Given the description of an element on the screen output the (x, y) to click on. 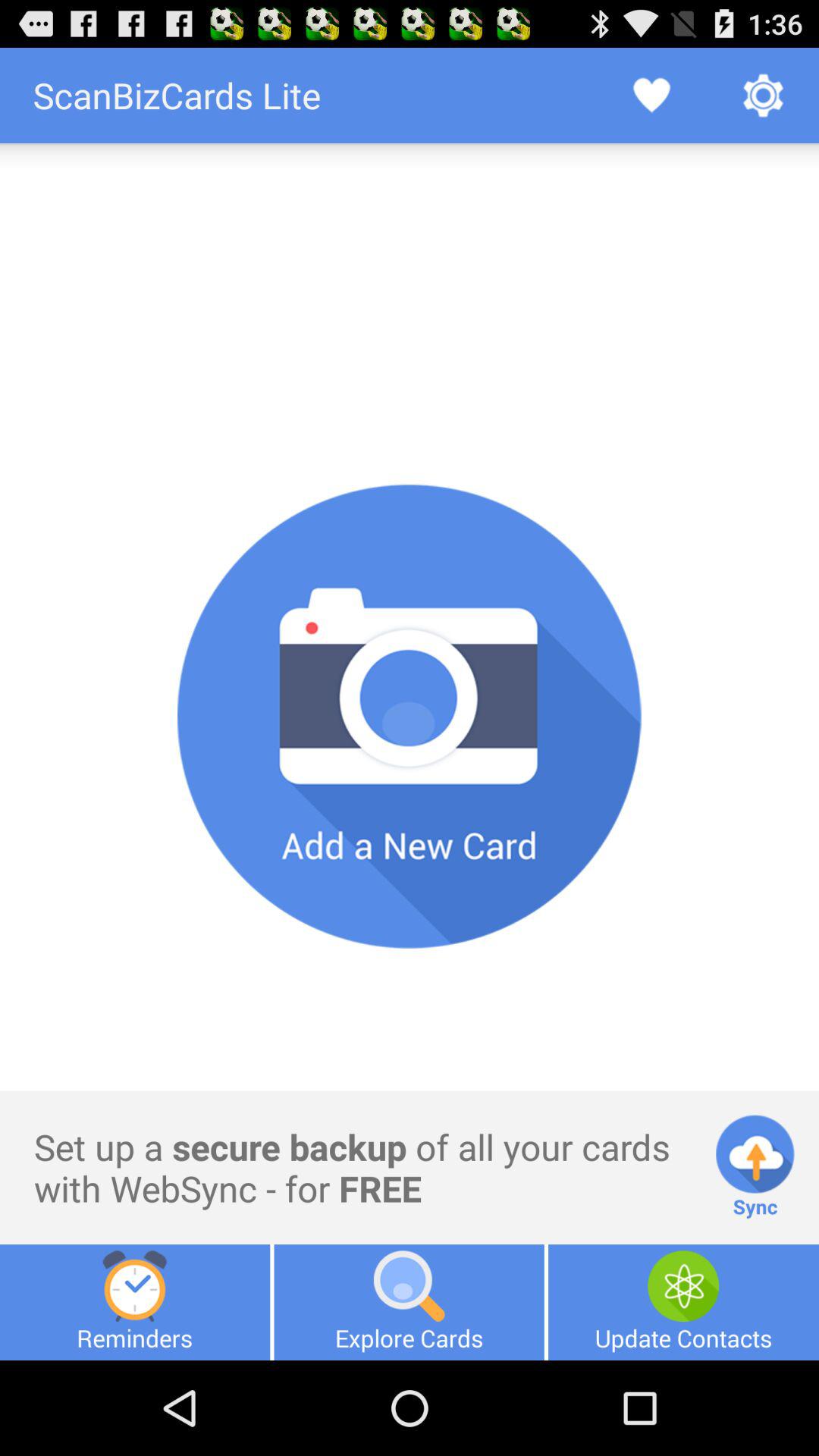
press item to the left of explore cards item (135, 1302)
